Given the description of an element on the screen output the (x, y) to click on. 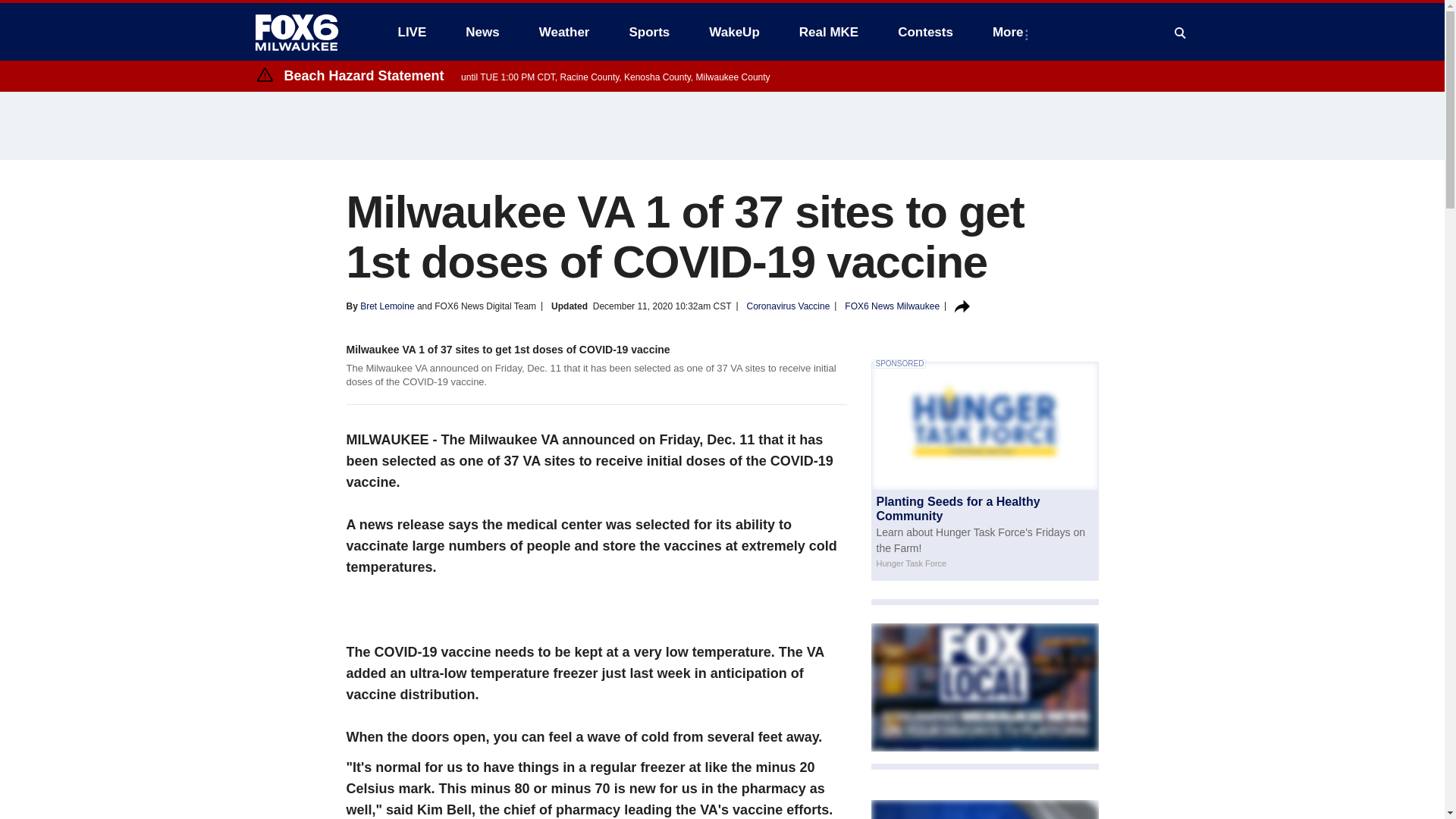
Real MKE (828, 32)
WakeUp (734, 32)
Weather (564, 32)
More (1010, 32)
LIVE (411, 32)
News (481, 32)
Contests (925, 32)
Sports (648, 32)
